Given the description of an element on the screen output the (x, y) to click on. 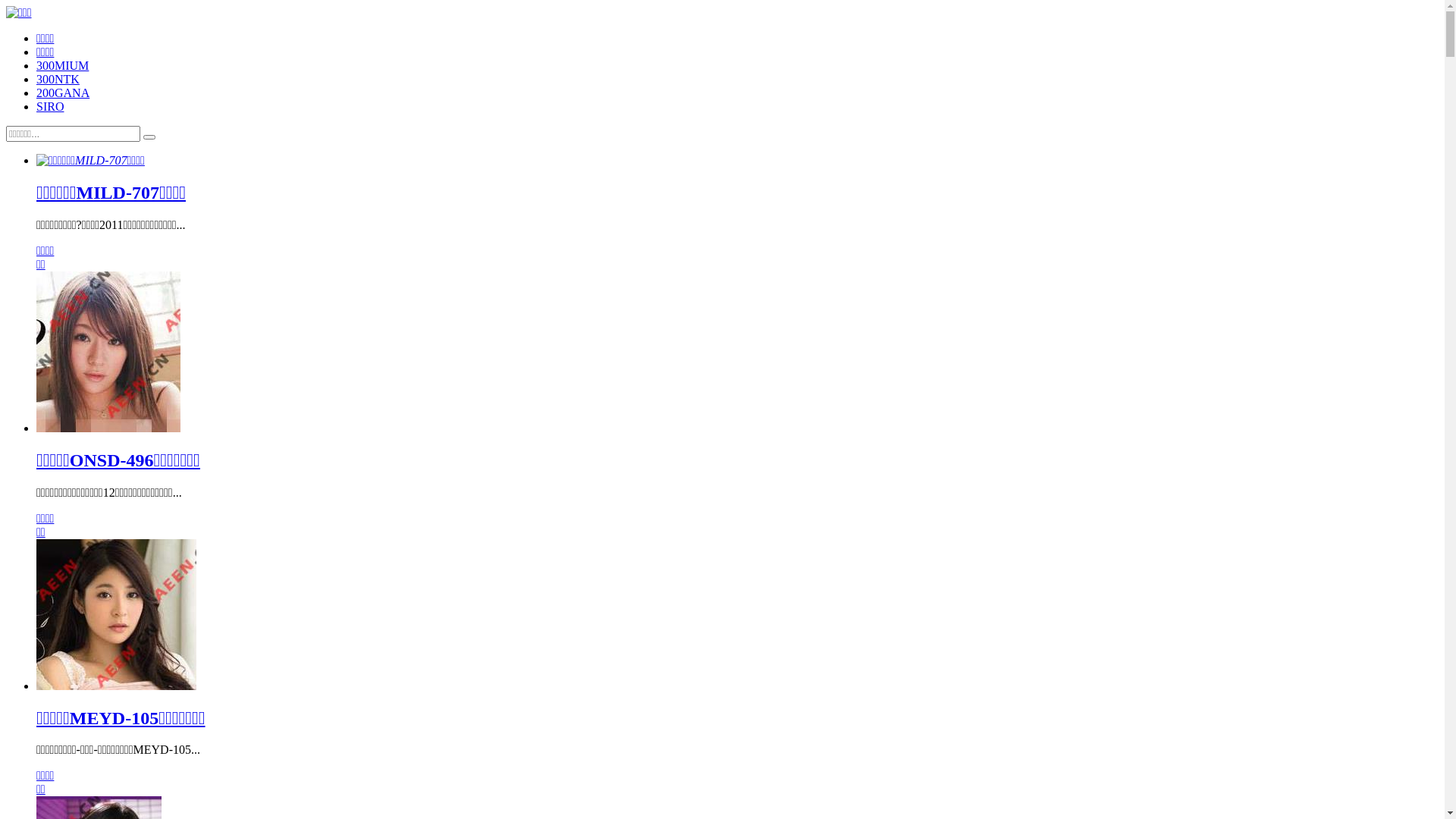
300MIUM Element type: text (62, 65)
SIRO Element type: text (49, 106)
300NTK Element type: text (57, 78)
200GANA Element type: text (62, 92)
